Given the description of an element on the screen output the (x, y) to click on. 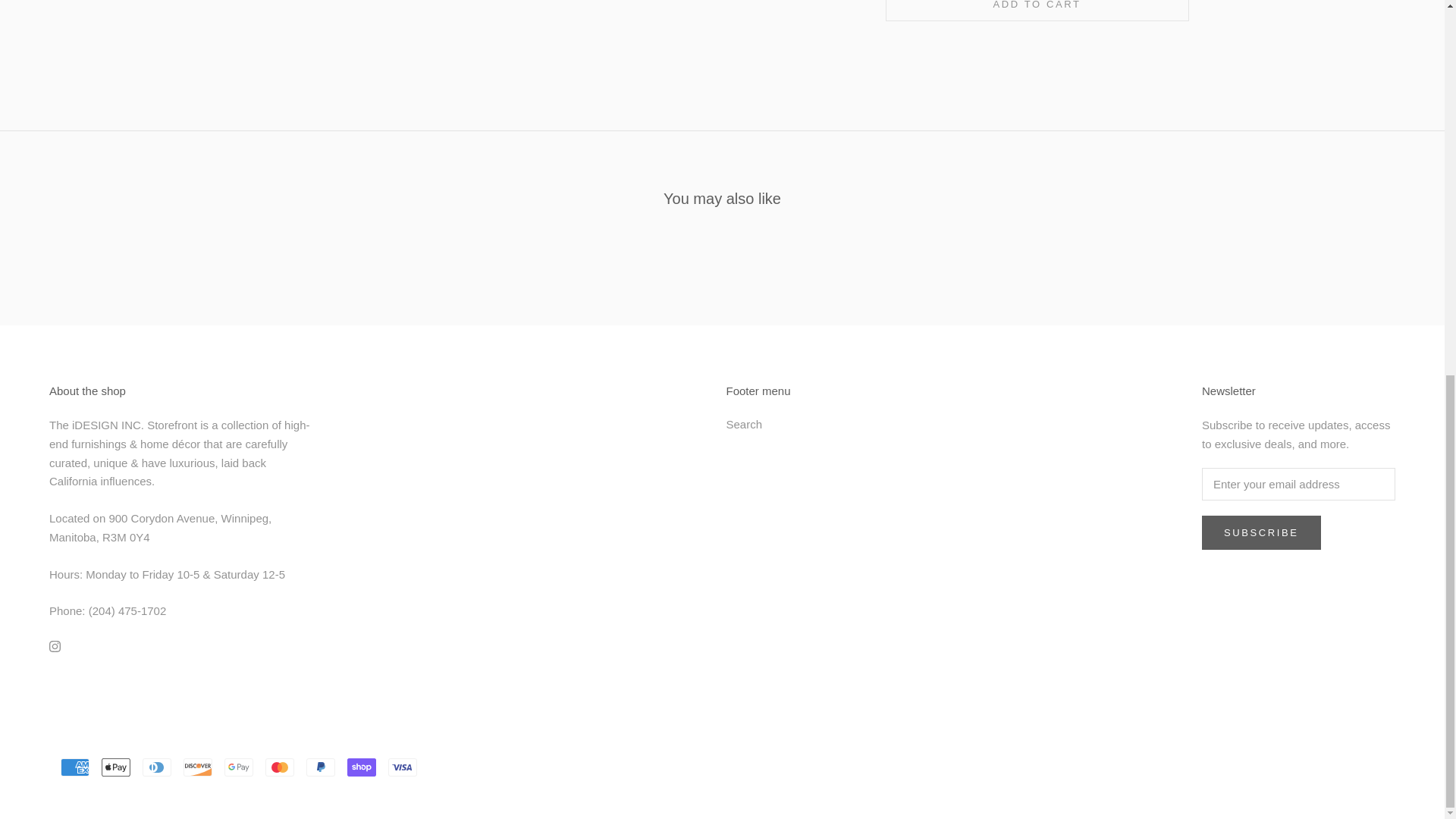
Visa (402, 767)
Search (757, 425)
Google Pay (238, 767)
Discover (197, 767)
Apple Pay (116, 767)
Shop Pay (361, 767)
Diners Club (156, 767)
SUBSCRIBE (1261, 532)
American Express (74, 767)
PayPal (319, 767)
